Given the description of an element on the screen output the (x, y) to click on. 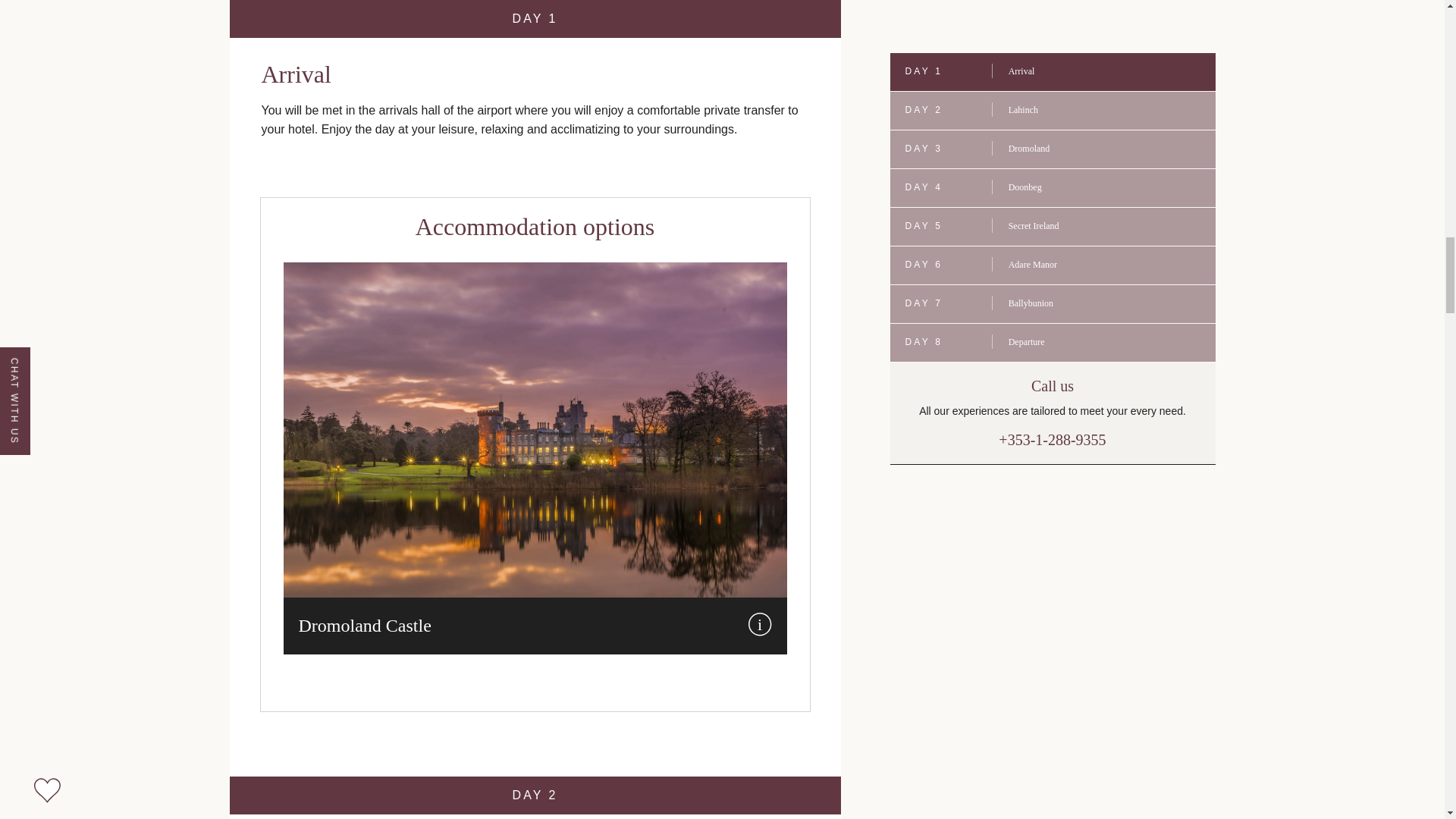
i (759, 623)
